Given the description of an element on the screen output the (x, y) to click on. 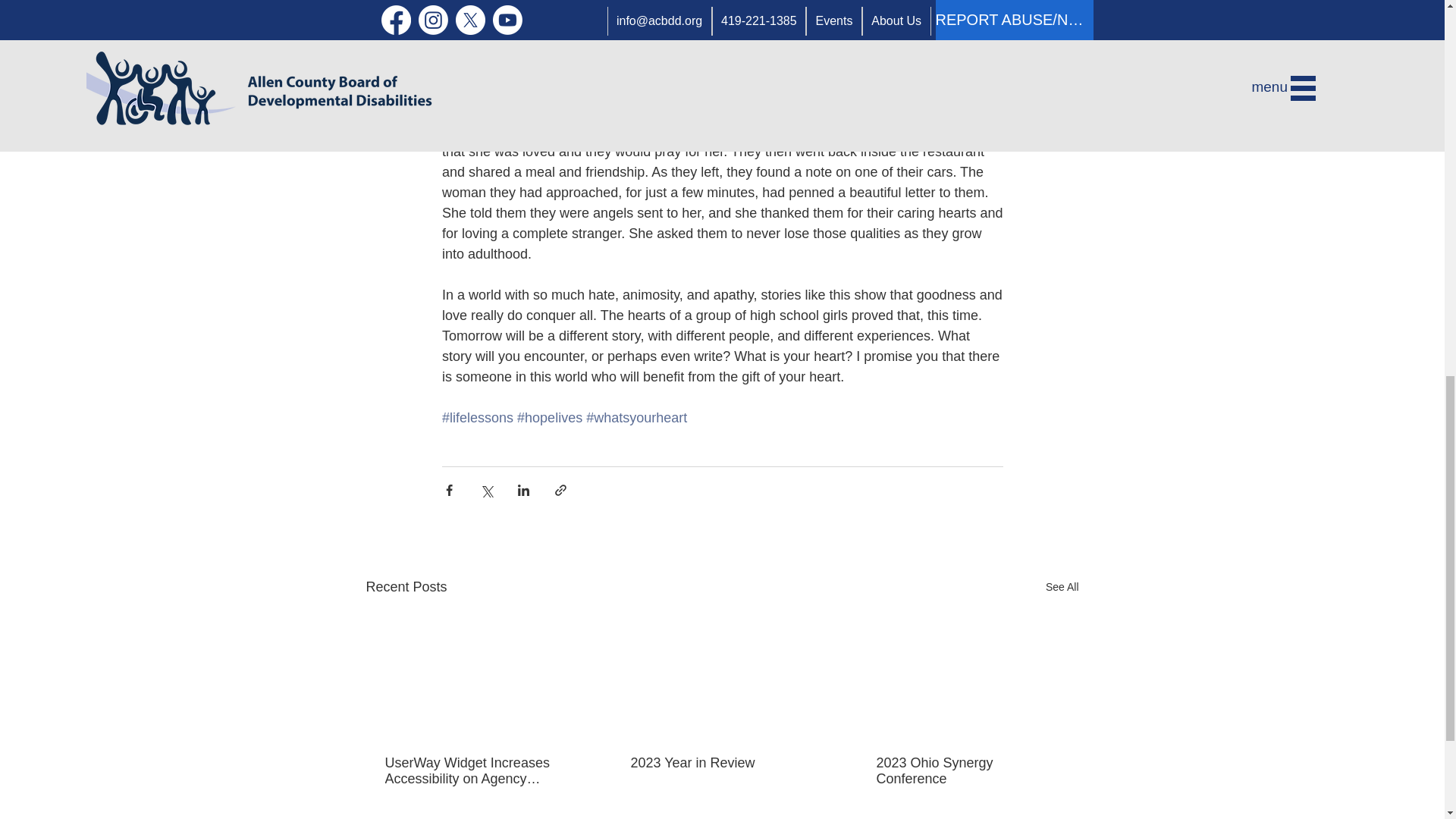
UserWay Widget Increases Accessibility on Agency Website (476, 771)
See All (1061, 587)
2023 Year in Review (721, 763)
2023 Ohio Synergy Conference (967, 771)
